Given the description of an element on the screen output the (x, y) to click on. 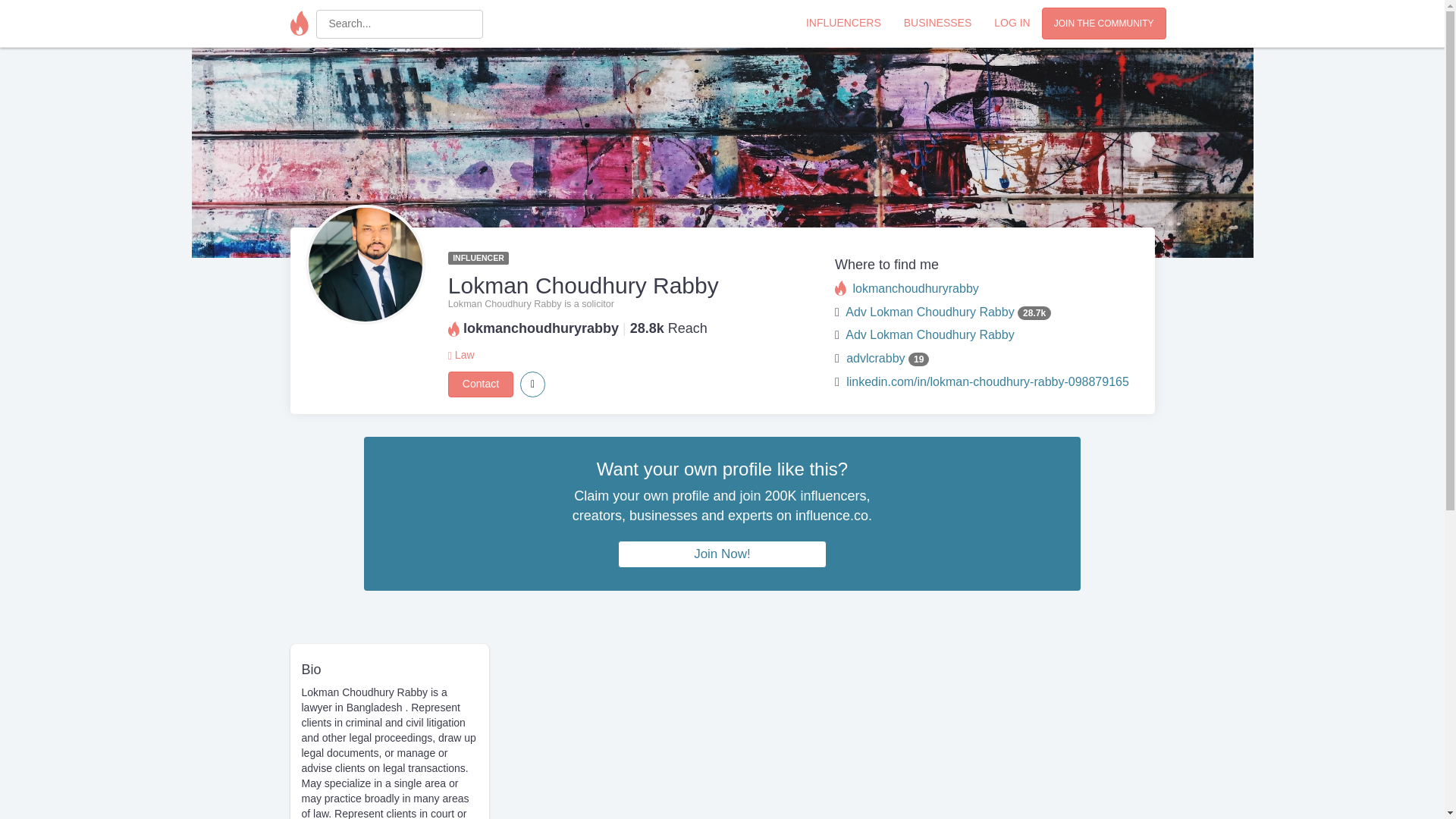
Law (464, 354)
Contact (480, 384)
Join Now! (722, 554)
lokmanchoudhuryrabby (914, 287)
advlcrabby (874, 358)
Adv Lokman Choudhury Rabby (929, 311)
BUSINESSES (937, 22)
LOG IN (1011, 22)
INFLUENCERS (843, 22)
JOIN THE COMMUNITY (1104, 23)
